Given the description of an element on the screen output the (x, y) to click on. 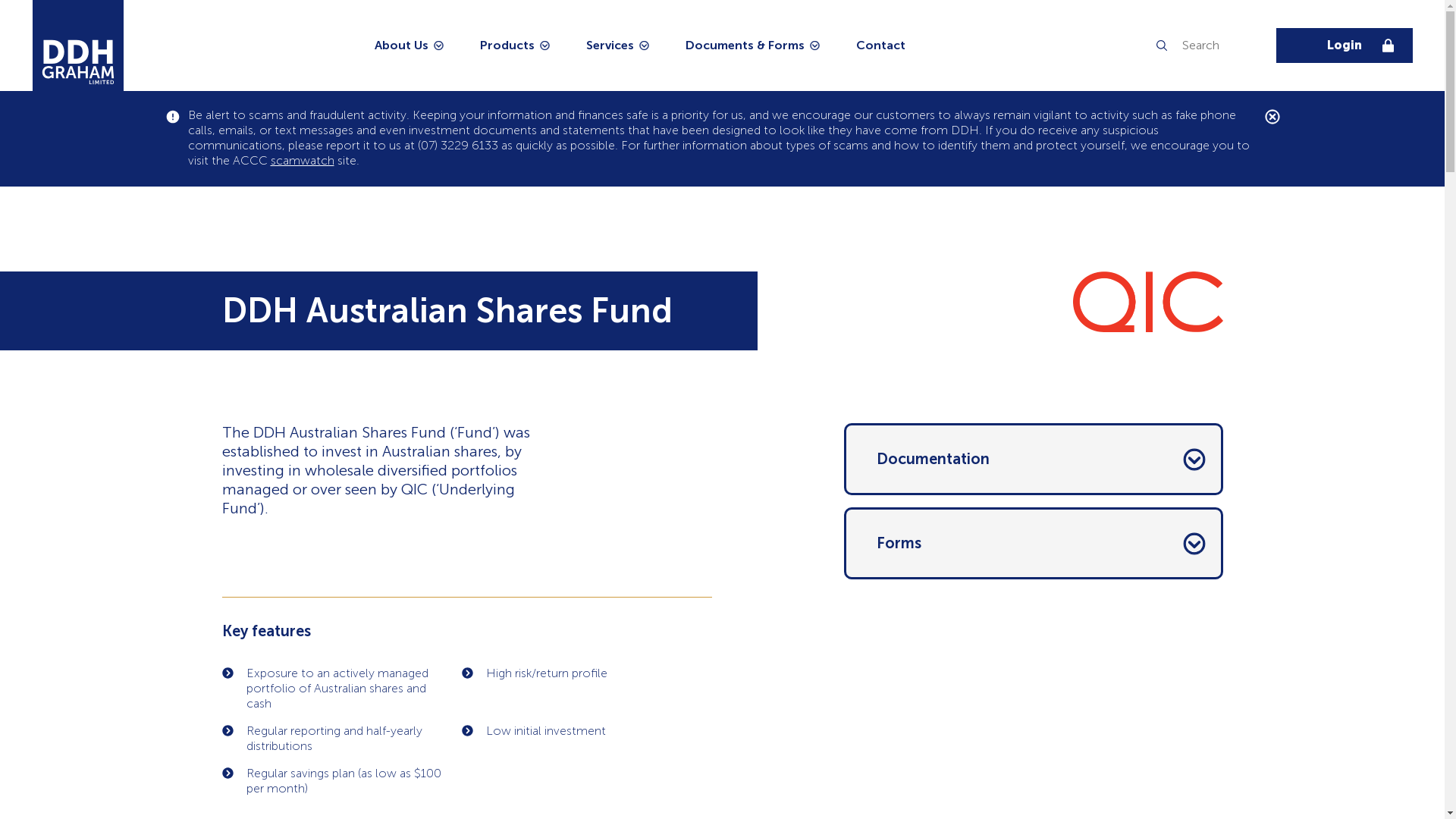
scamwatch Element type: text (301, 160)
